Given the description of an element on the screen output the (x, y) to click on. 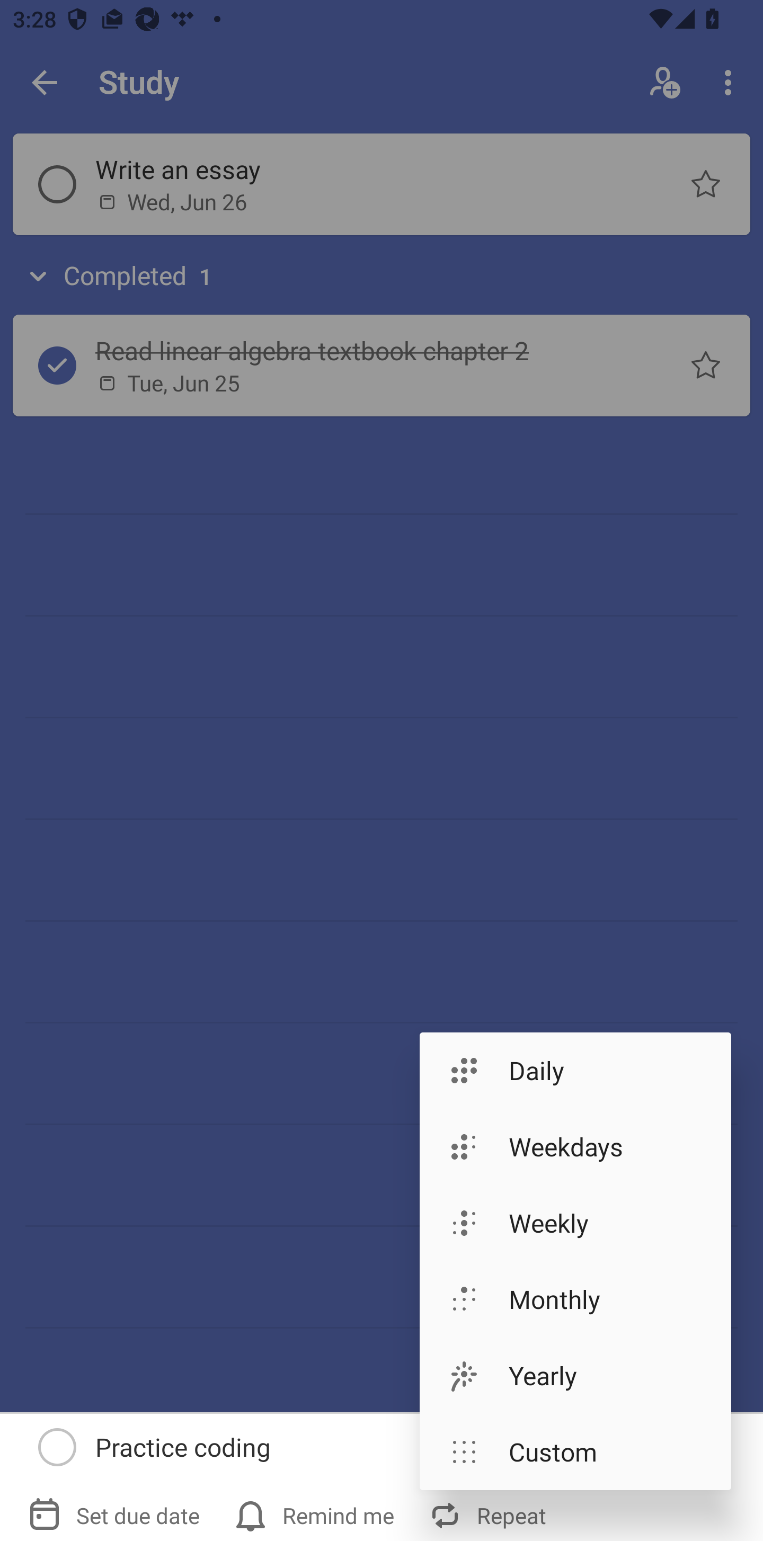
Daily1 in 6 Daily (574, 1069)
